Given the description of an element on the screen output the (x, y) to click on. 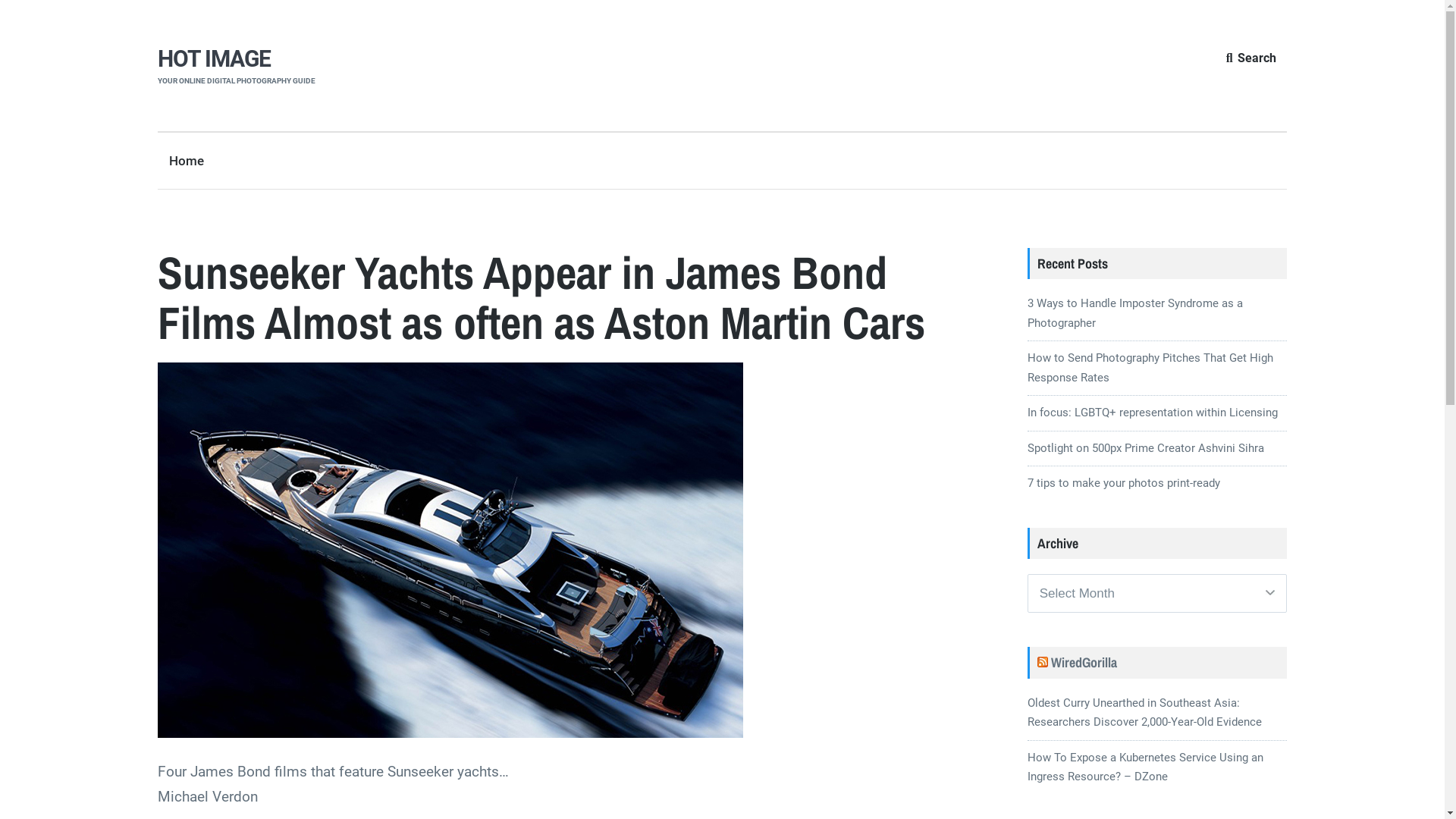
7 tips to make your photos print-ready Element type: text (1123, 482)
In focus: LGBTQ+ representation within Licensing Element type: text (1152, 412)
3 Ways to Handle Imposter Syndrome as a Photographer Element type: text (1134, 312)
Spotlight on 500px Prime Creator Ashvini Sihra Element type: text (1145, 448)
WiredGorilla Element type: text (1084, 661)
How to Send Photography Pitches That Get High Response Rates Element type: text (1150, 367)
Michael Verdon Element type: text (207, 796)
Search Element type: text (1250, 58)
HOT IMAGE Element type: text (213, 58)
Home Element type: text (186, 160)
